Given the description of an element on the screen output the (x, y) to click on. 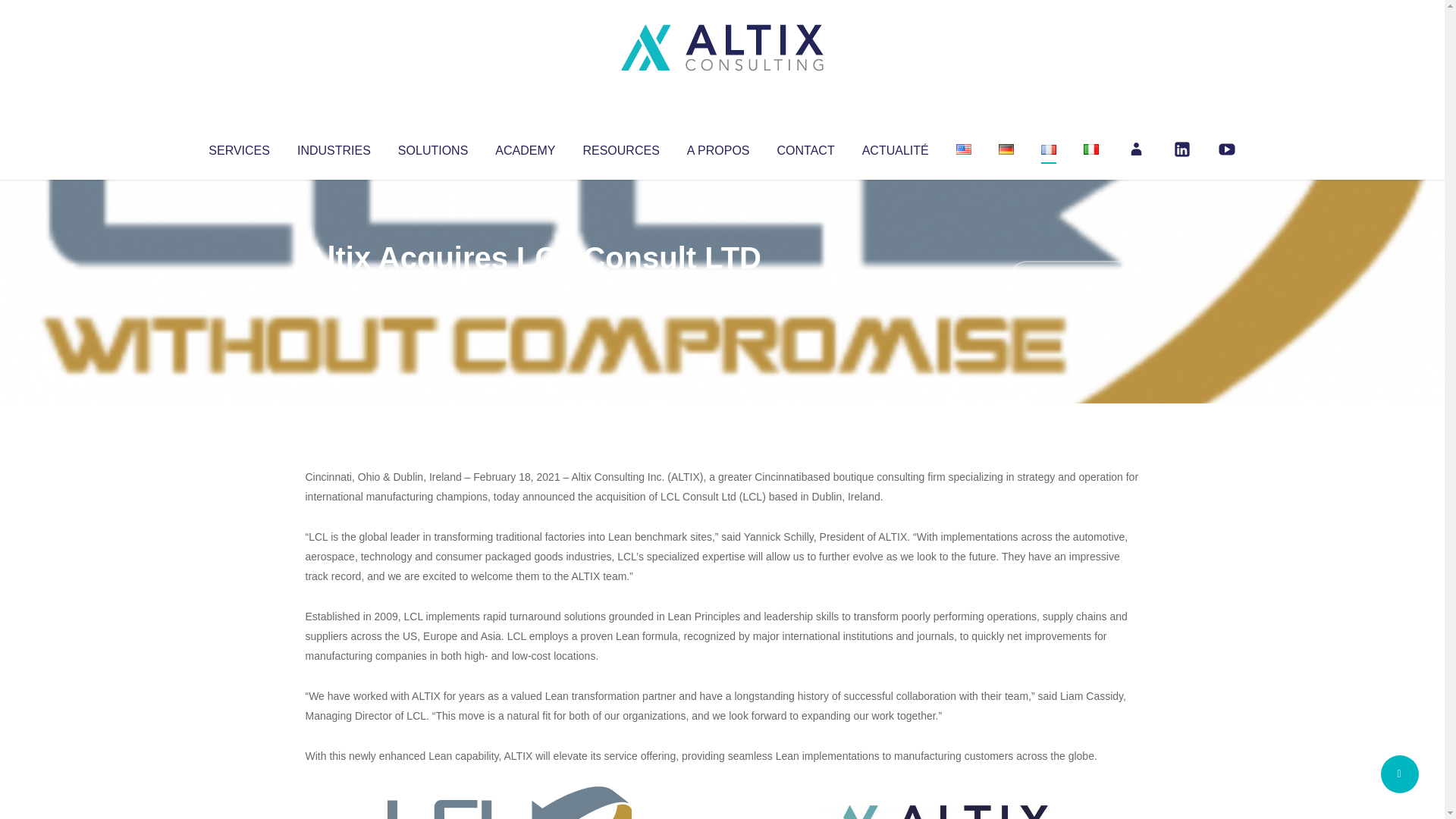
RESOURCES (620, 146)
SERVICES (238, 146)
No Comments (1073, 278)
Uncategorized (530, 287)
A PROPOS (718, 146)
Articles par Altix (333, 287)
Altix (333, 287)
ACADEMY (524, 146)
SOLUTIONS (432, 146)
INDUSTRIES (334, 146)
